Given the description of an element on the screen output the (x, y) to click on. 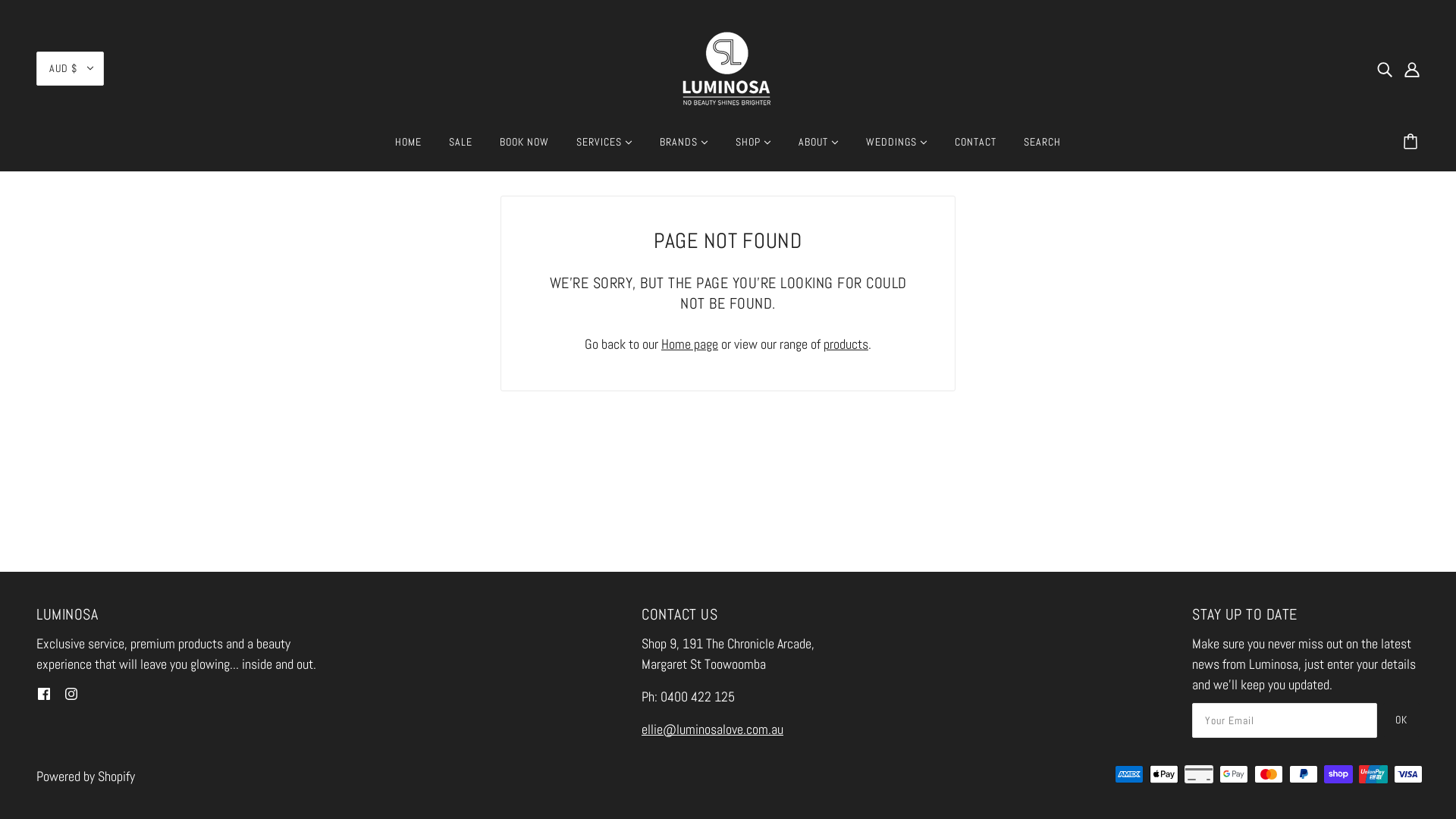
Powered by Shopify Element type: text (85, 775)
ABOUT Element type: text (818, 147)
BOOK NOW Element type: text (524, 147)
CONTACT Element type: text (975, 147)
SERVICES Element type: text (604, 147)
SHOP Element type: text (753, 147)
BRANDS Element type: text (683, 147)
HOME Element type: text (407, 147)
Home page Element type: text (689, 343)
ellie@luminosalove.com.au Element type: text (712, 728)
SALE Element type: text (460, 147)
products Element type: text (845, 343)
SEARCH Element type: text (1042, 147)
Luminosa Love Element type: hover (727, 66)
OK Element type: text (1401, 719)
WEDDINGS Element type: text (896, 147)
